Given the description of an element on the screen output the (x, y) to click on. 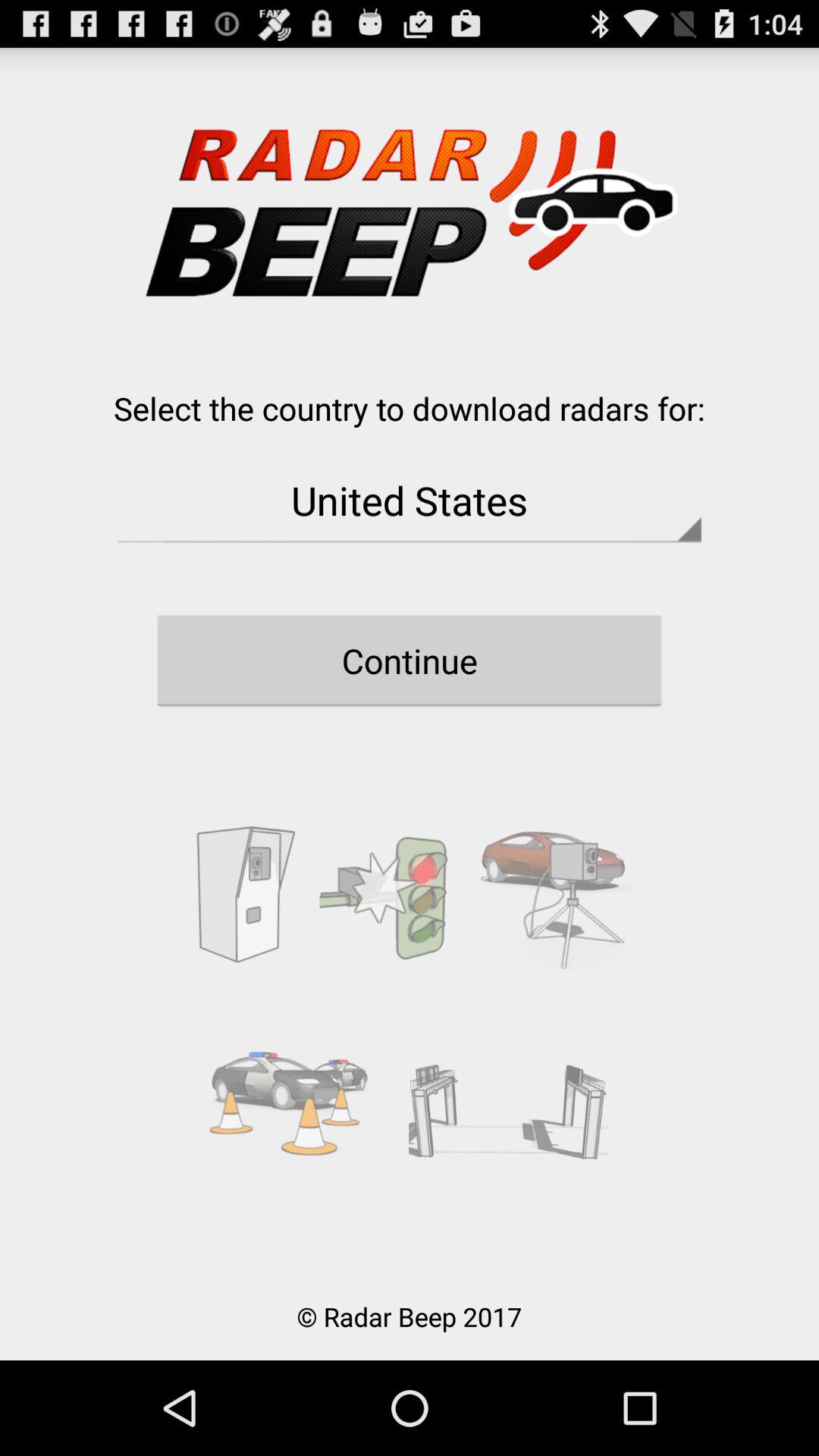
tap the continue (409, 660)
